Given the description of an element on the screen output the (x, y) to click on. 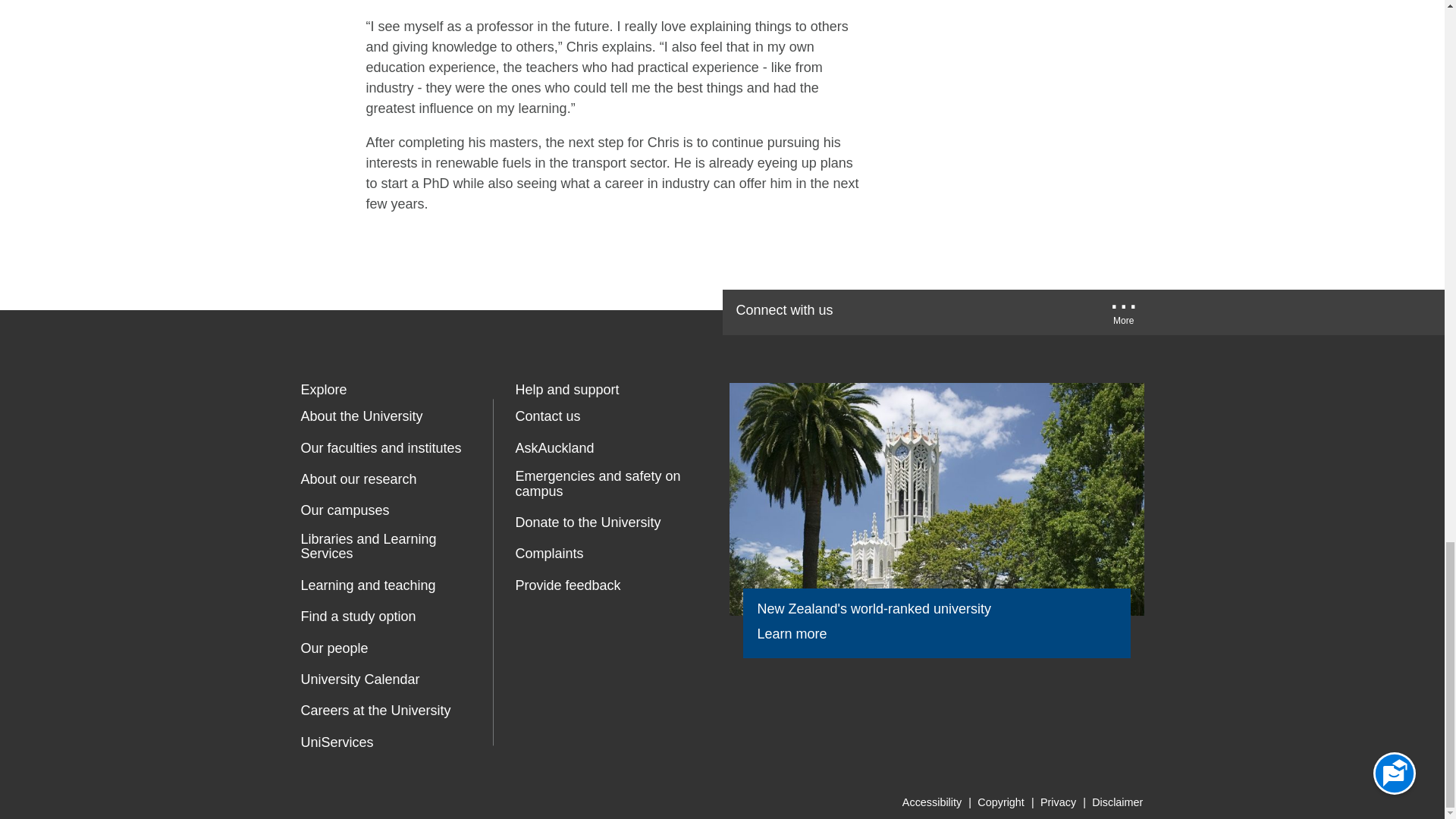
LinkedIn (1021, 312)
Facebook (876, 312)
Instagram (1069, 312)
Women's Refuge (528, 650)
Twitter (925, 312)
YouTube (972, 312)
University of Auckland More Social... (1123, 316)
Learn more (802, 634)
